Given the description of an element on the screen output the (x, y) to click on. 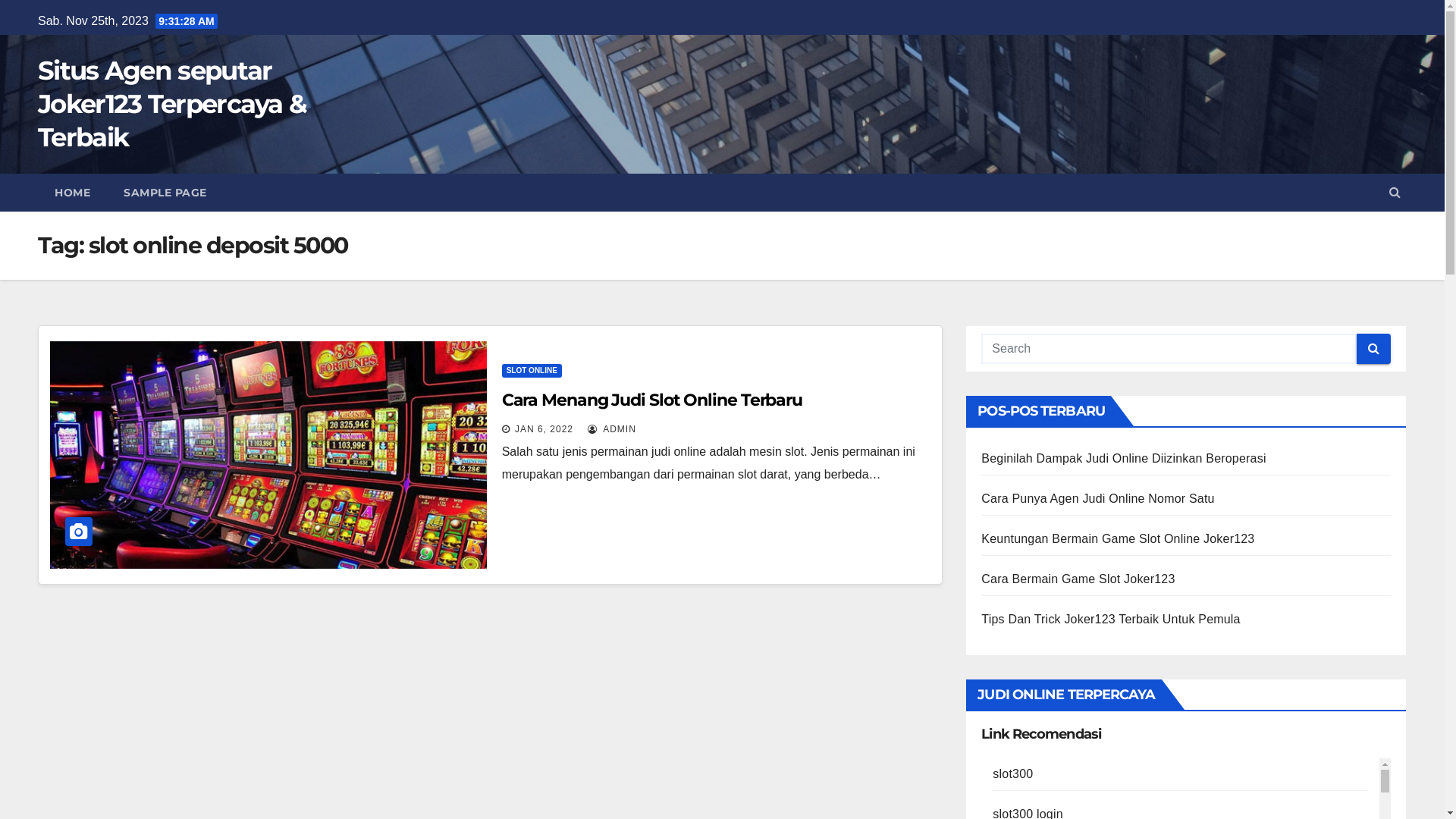
Keuntungan Bermain Game Slot Online Joker123 Element type: text (1117, 538)
Cara Punya Agen Judi Online Nomor Satu Element type: text (1097, 498)
Cara Menang Judi Slot Online Terbaru Element type: text (652, 399)
Tips Dan Trick Joker123 Terbaik Untuk Pemula Element type: text (1110, 618)
SAMPLE PAGE Element type: text (164, 192)
ADMIN Element type: text (610, 428)
SLOT ONLINE Element type: text (531, 370)
Cara Bermain Game Slot Joker123 Element type: text (1077, 578)
slot300 Element type: text (1012, 773)
HOME Element type: text (71, 192)
Situs Agen seputar Joker123 Terpercaya & Terbaik Element type: text (171, 103)
Beginilah Dampak Judi Online Diizinkan Beroperasi Element type: text (1123, 457)
JAN 6, 2022 Element type: text (543, 428)
